Given the description of an element on the screen output the (x, y) to click on. 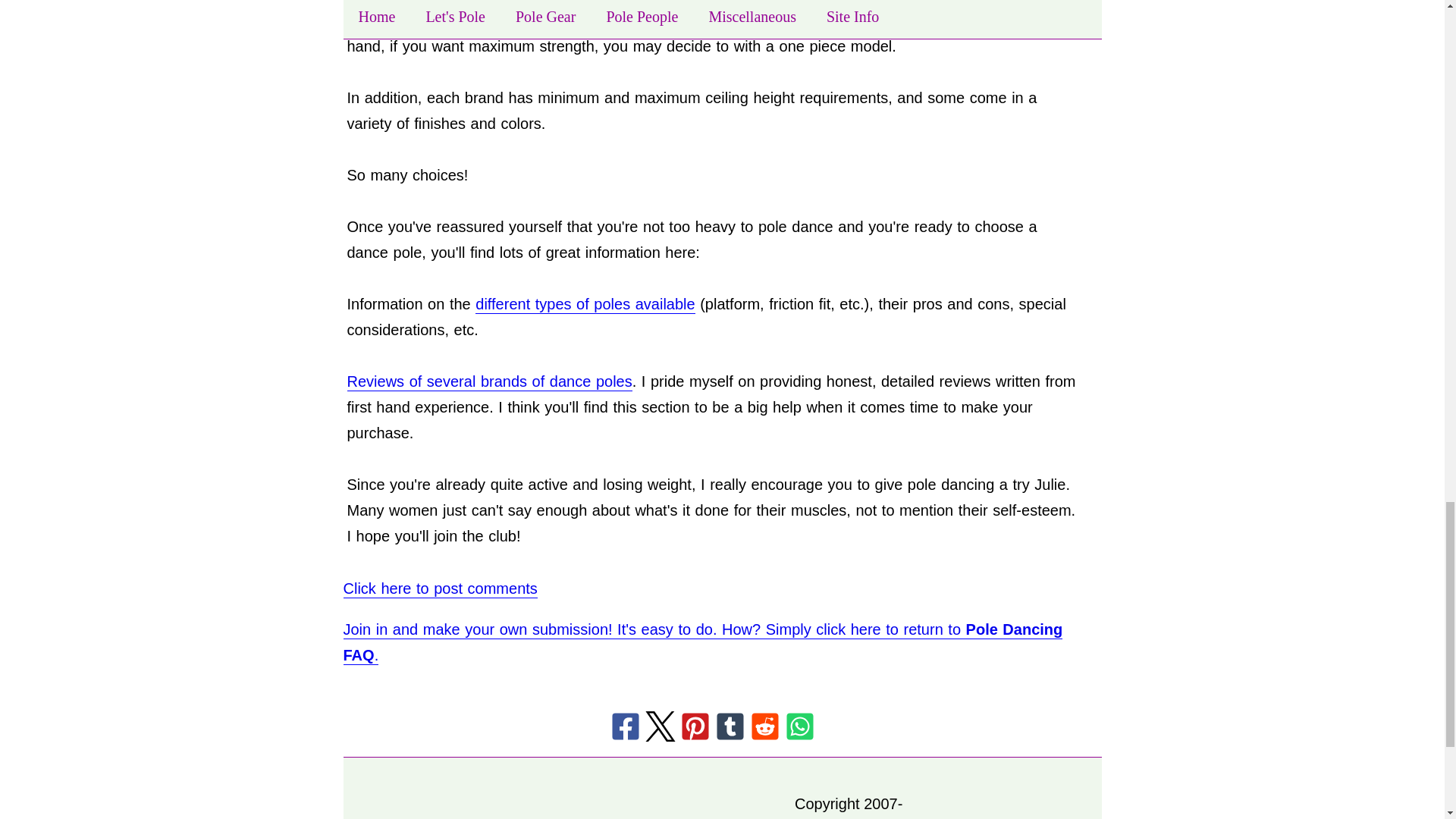
different types of poles available (585, 304)
Click here to post comments (439, 588)
Reviews of several brands of dance poles (489, 382)
